Given the description of an element on the screen output the (x, y) to click on. 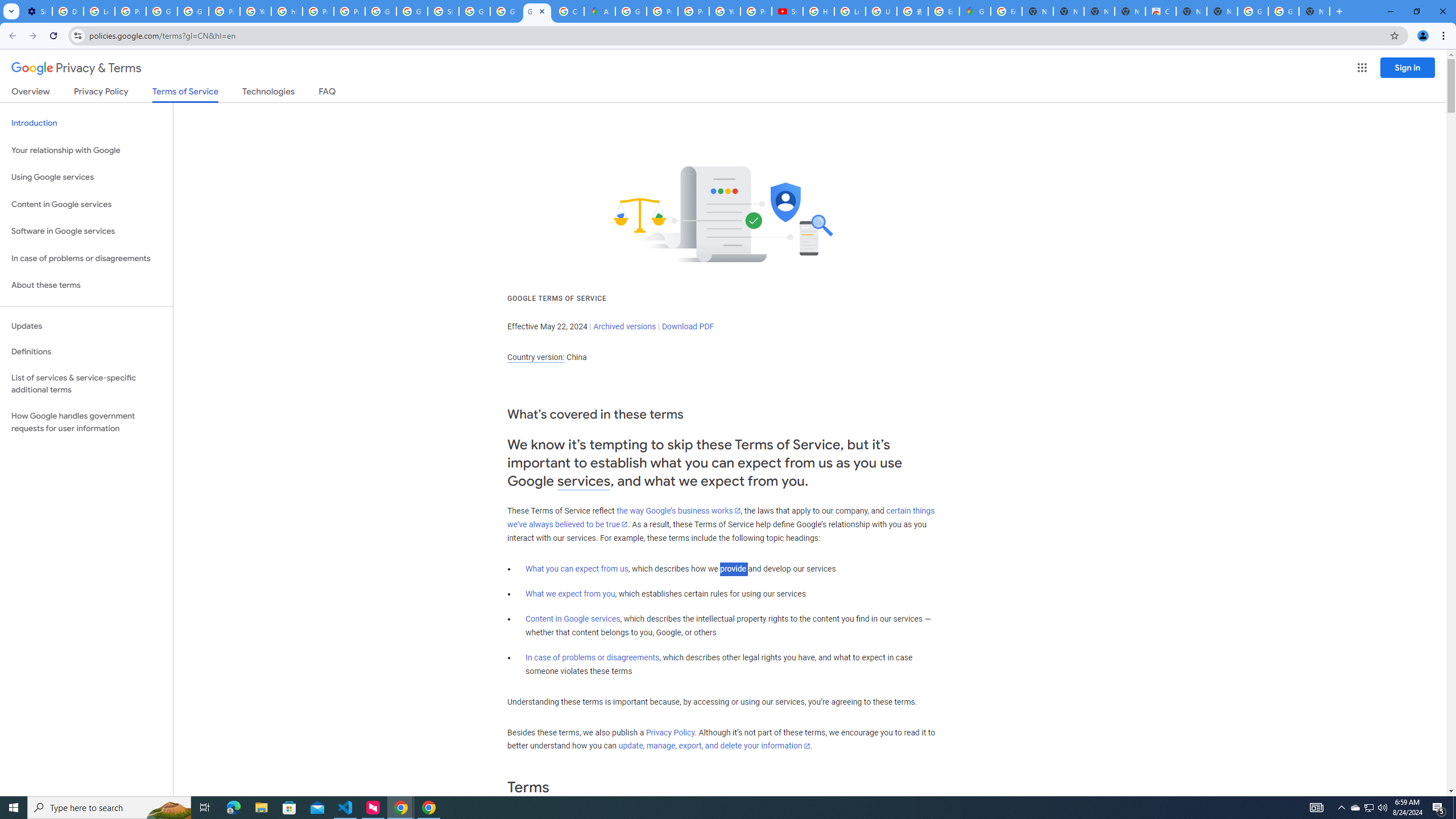
Google Maps (974, 11)
